Given the description of an element on the screen output the (x, y) to click on. 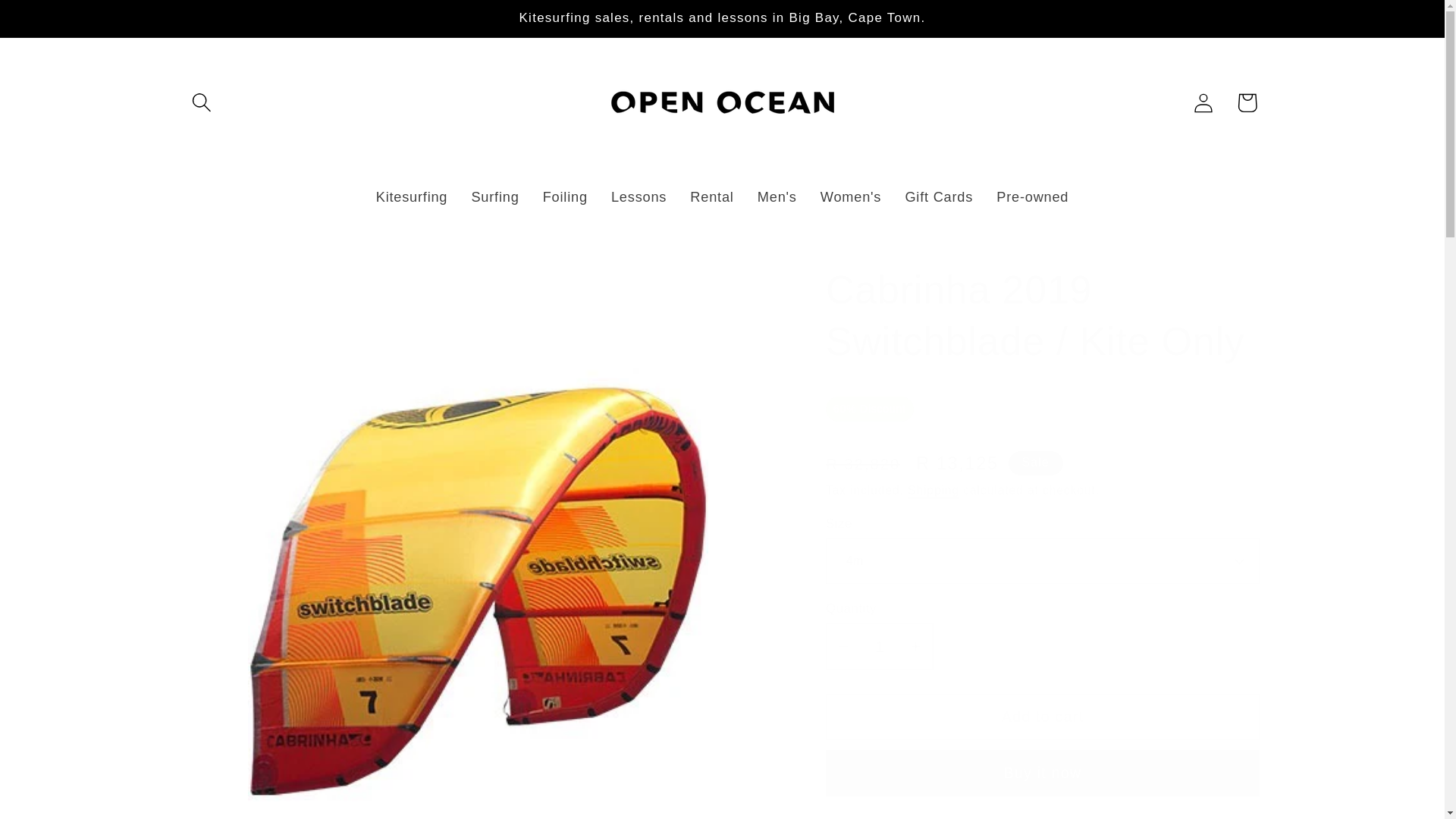
Women's (850, 197)
Men's (776, 197)
Skip to product information (238, 267)
Surfing (495, 197)
Skip to content (59, 22)
Lessons (638, 197)
Log in (1202, 102)
Shipping (933, 490)
Cart (1246, 102)
Foiling (564, 197)
Pre-owned (1032, 197)
Gift Cards (939, 197)
Rental (711, 197)
Kitesurfing (412, 197)
